Given the description of an element on the screen output the (x, y) to click on. 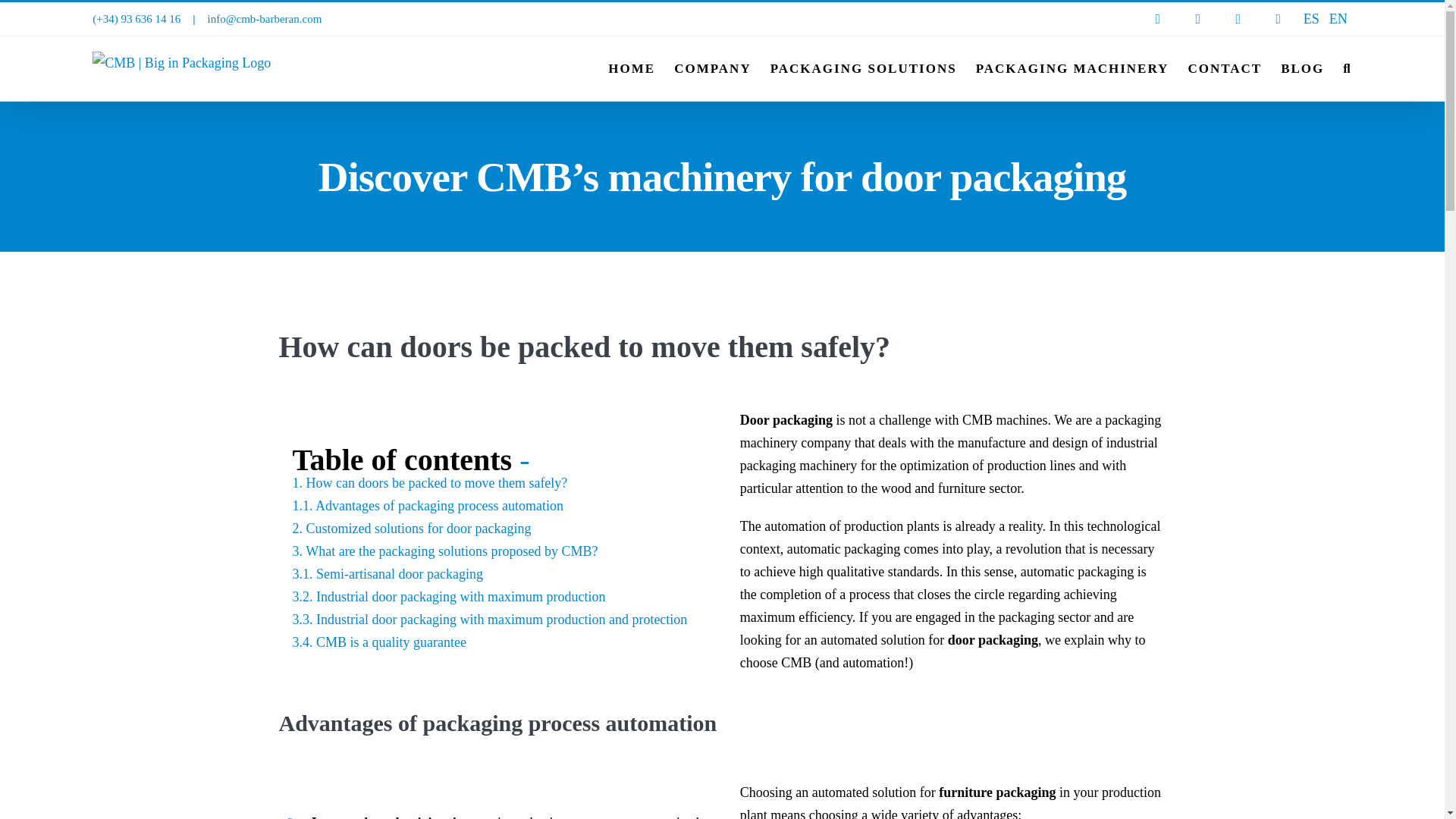
1. How can doors be packed to move them safely? (429, 482)
3.4. CMB is a quality guarantee (378, 641)
3.2. Industrial door packaging with maximum production (448, 595)
EN (1337, 19)
ES (1311, 19)
PACKAGING MACHINERY (1072, 67)
EN (1337, 19)
CONTACT (1225, 67)
3.1. Semi-artisanal door packaging (386, 572)
PACKAGING SOLUTIONS (863, 67)
